Given the description of an element on the screen output the (x, y) to click on. 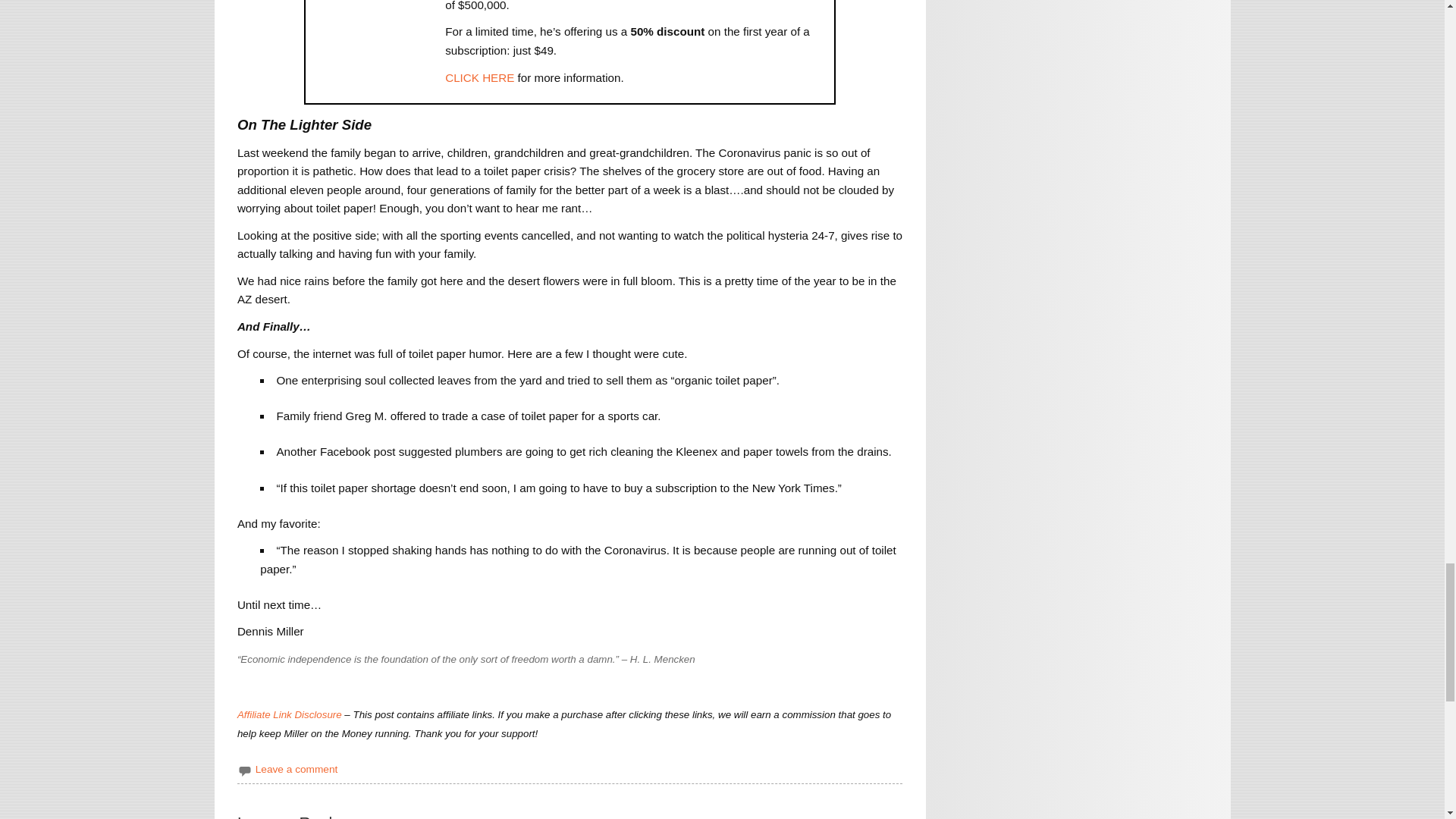
Affiliate Link Disclosure (289, 714)
Leave a comment (296, 768)
CLICK HERE (479, 77)
